Given the description of an element on the screen output the (x, y) to click on. 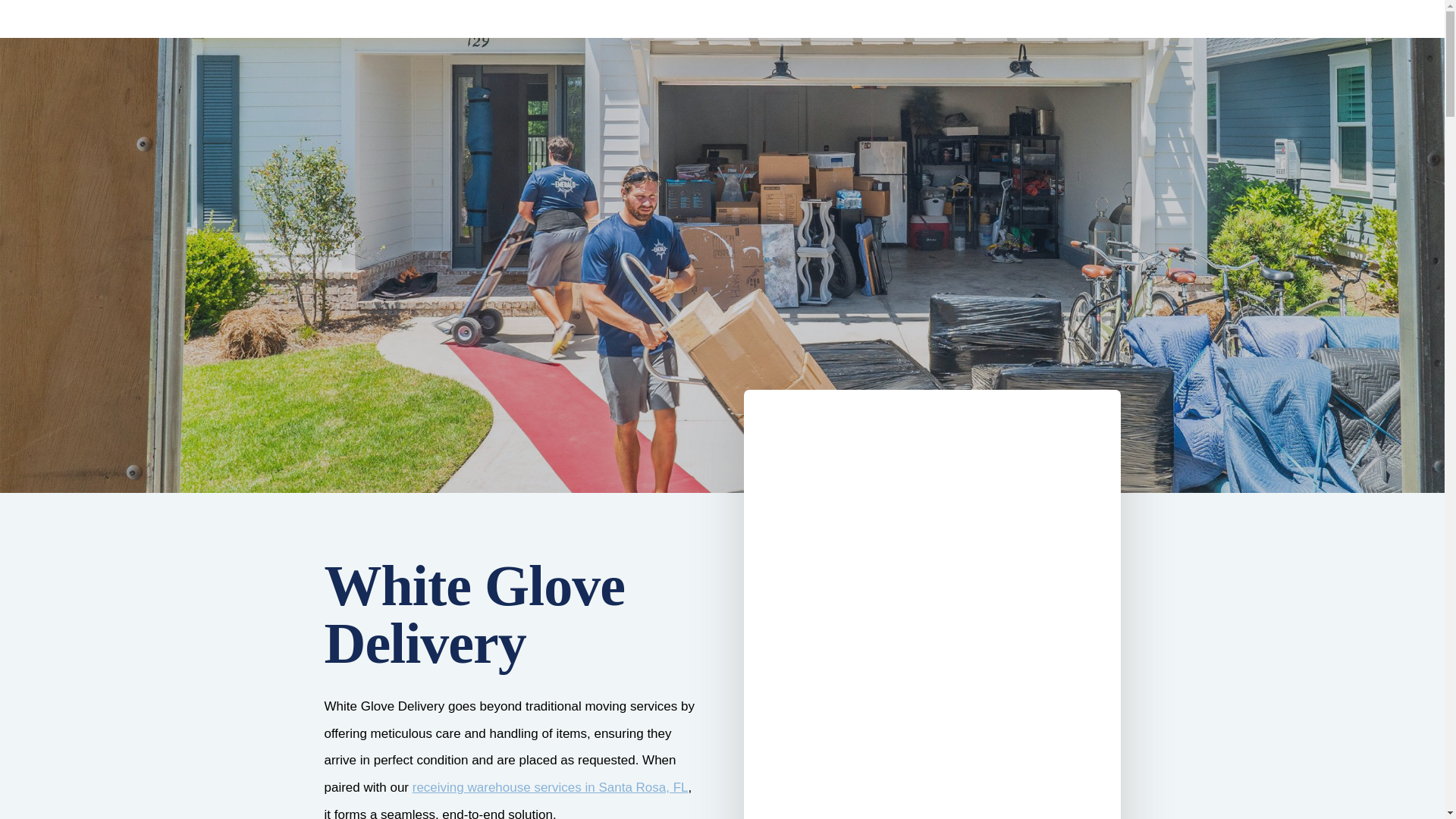
receiving warehouse services in Santa Rosa, FL (550, 787)
